Given the description of an element on the screen output the (x, y) to click on. 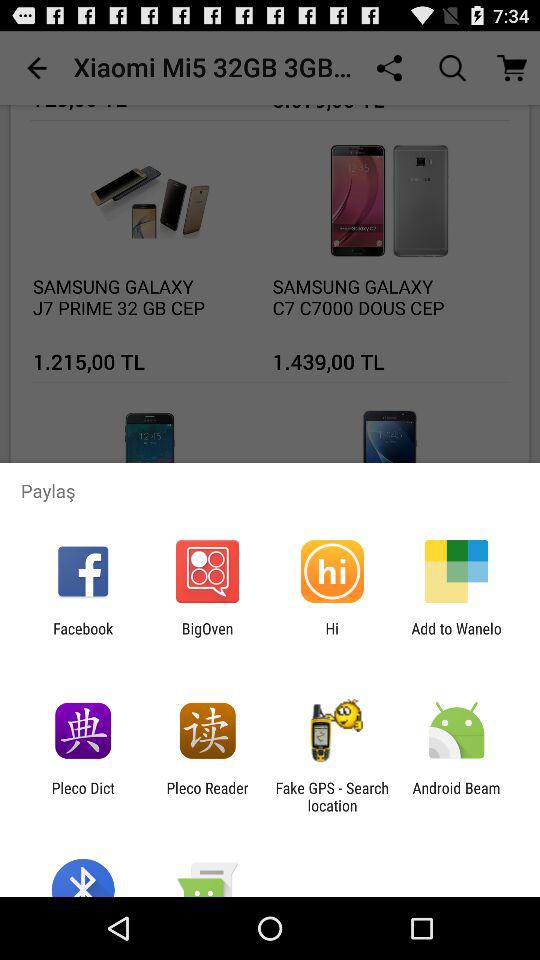
swipe to android beam item (456, 796)
